Given the description of an element on the screen output the (x, y) to click on. 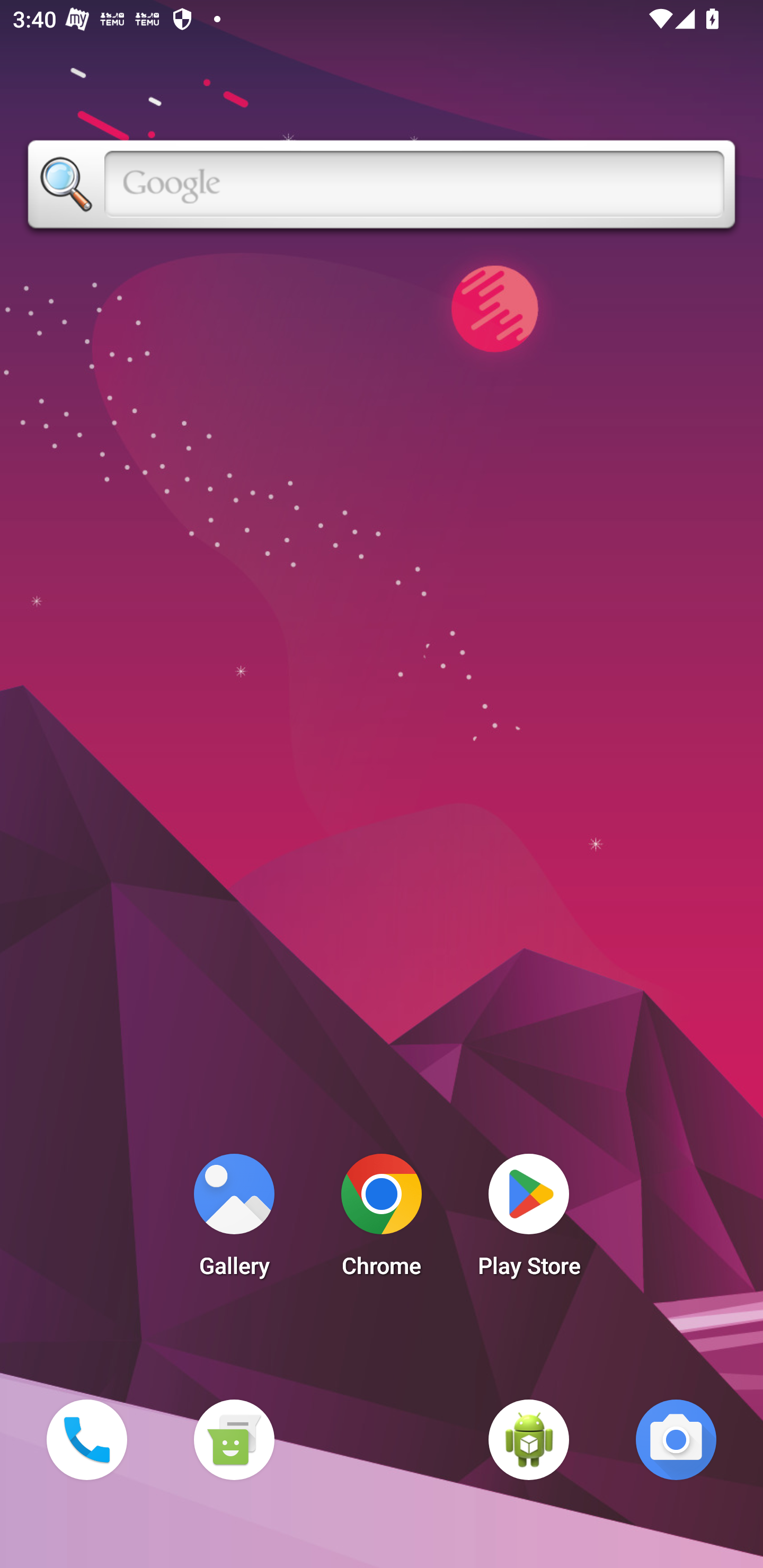
Gallery (233, 1220)
Chrome (381, 1220)
Play Store (528, 1220)
Phone (86, 1439)
Messaging (233, 1439)
WebView Browser Tester (528, 1439)
Camera (676, 1439)
